Given the description of an element on the screen output the (x, y) to click on. 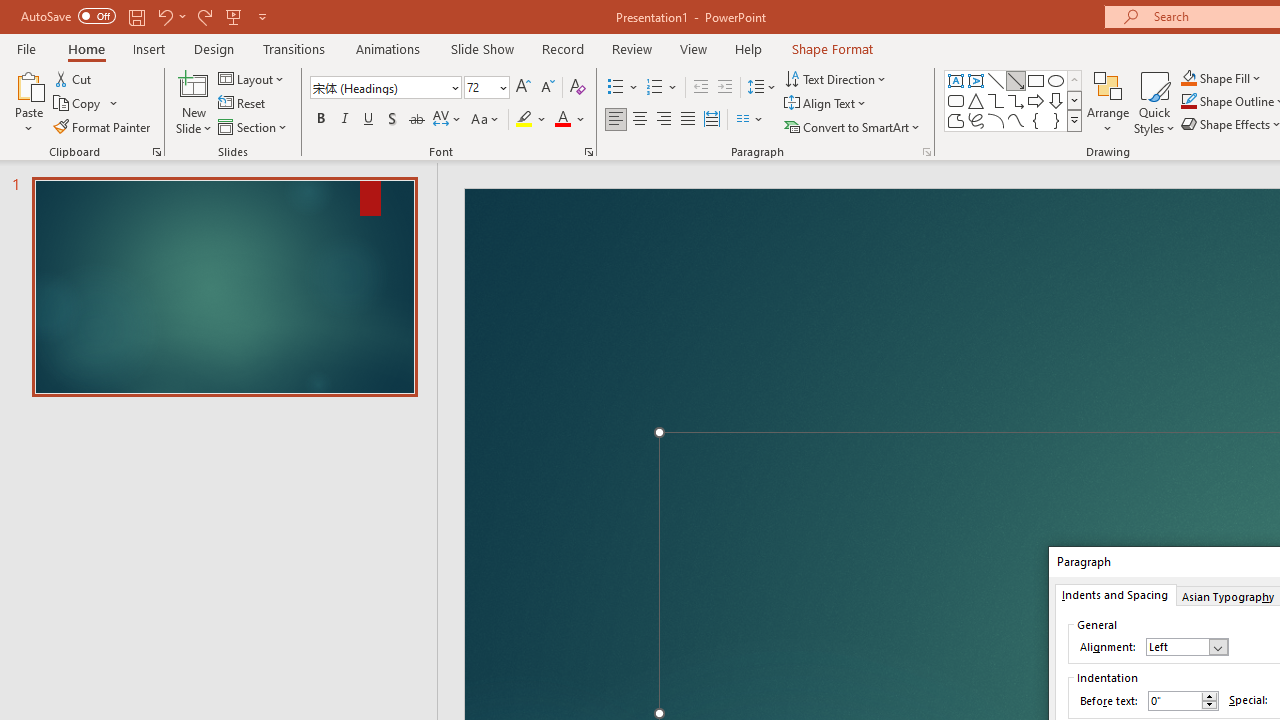
Shadow (392, 119)
Strikethrough (416, 119)
Arrange (1108, 102)
Left Brace (1035, 120)
Format Painter (103, 126)
Indents and Spacing (1114, 593)
Office Clipboard... (156, 151)
Reset (243, 103)
Right Brace (1055, 120)
Quick Styles (1154, 102)
